Given the description of an element on the screen output the (x, y) to click on. 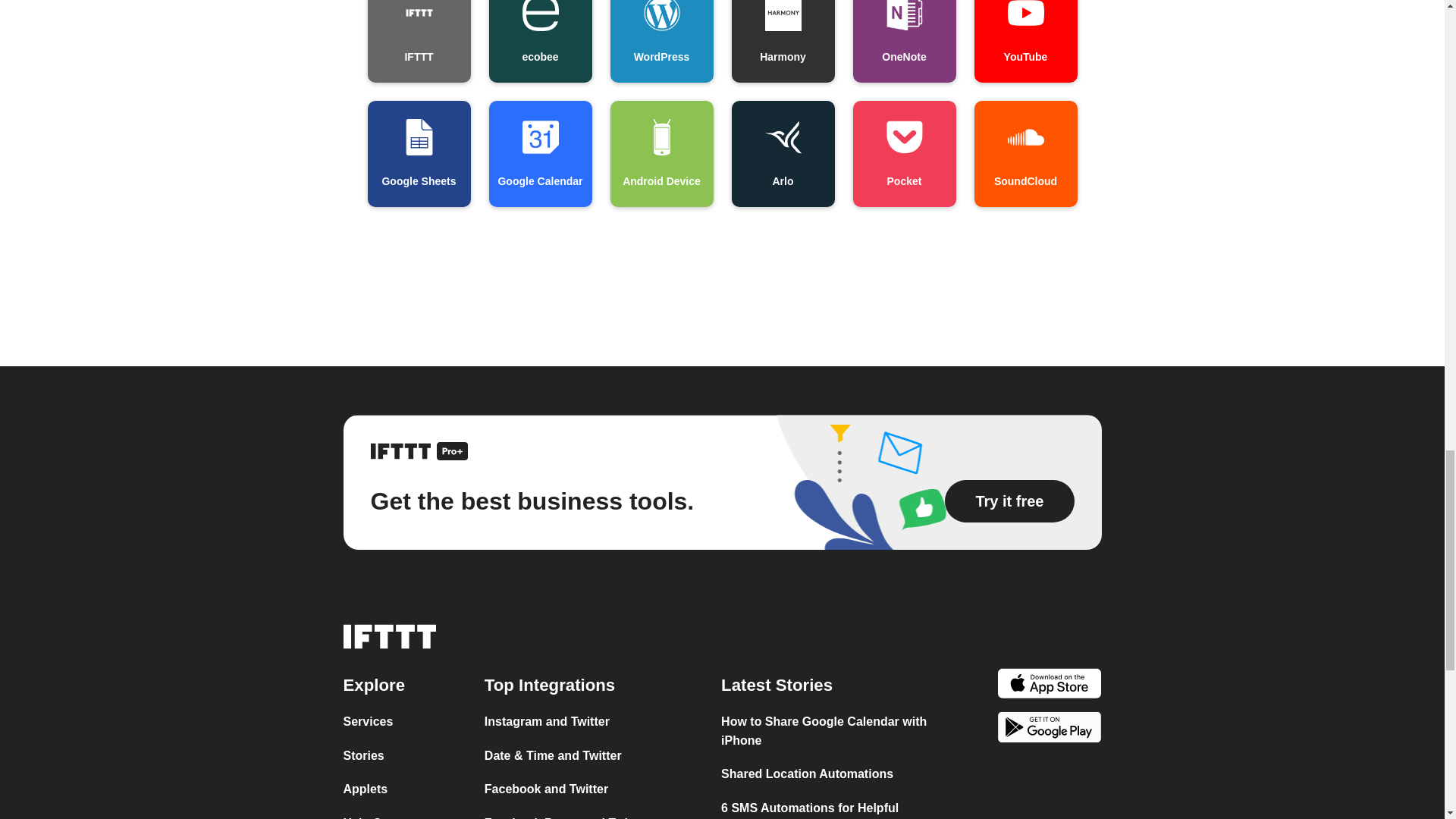
YouTube (1025, 41)
OneNote (903, 41)
WordPress (661, 41)
IFTTT (418, 41)
ecobee (539, 41)
Google Sheets (418, 153)
Harmony (782, 41)
